Given the description of an element on the screen output the (x, y) to click on. 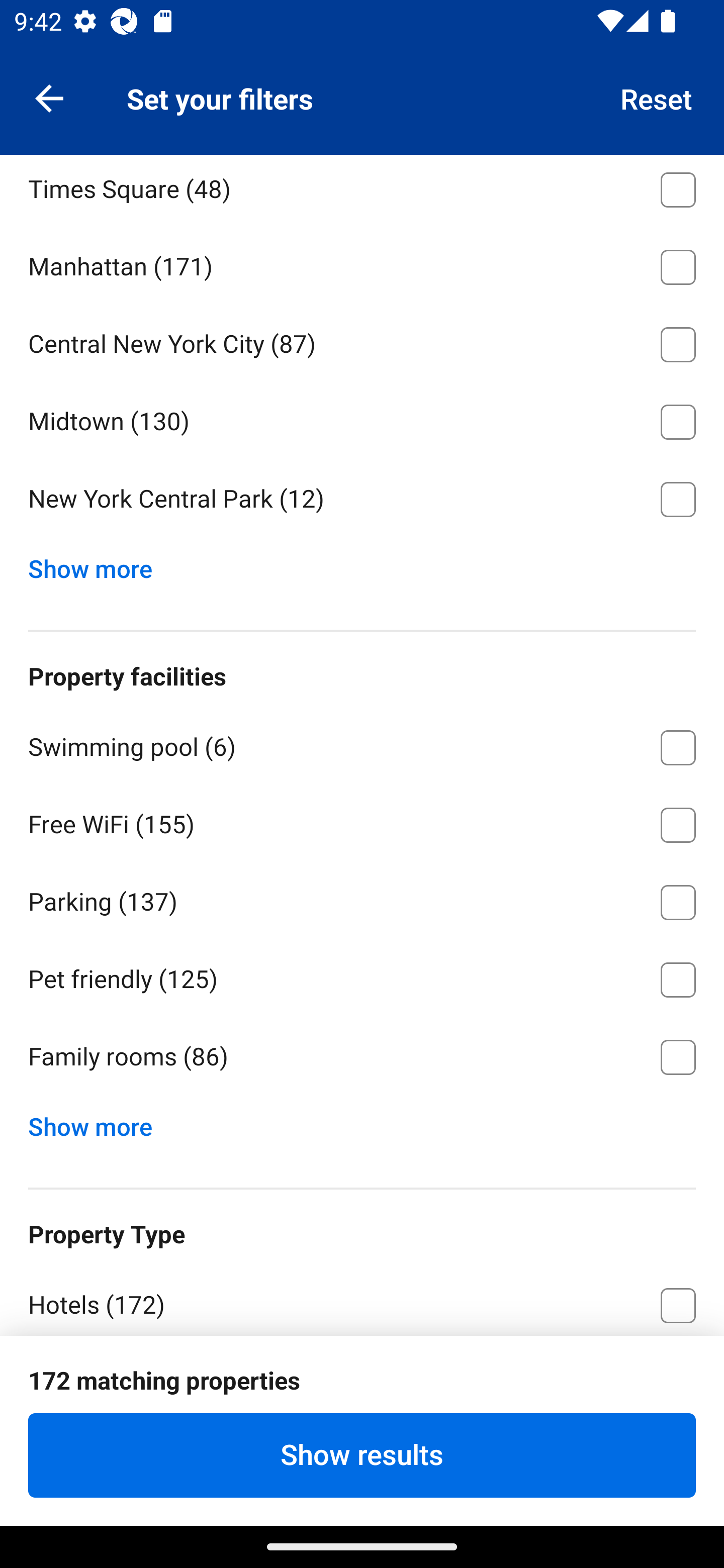
Navigate up (49, 97)
Reset (656, 97)
Times Square ⁦(48) (361, 190)
Manhattan ⁦(171) (361, 263)
Central New York City ⁦(87) (361, 340)
Midtown ⁦(130) (361, 418)
New York Central Park ⁦(12) (361, 499)
Show more (97, 565)
Swimming pool ⁦(6) (361, 743)
Free WiFi ⁦(155) (361, 821)
Parking ⁦(137) (361, 898)
Pet friendly ⁦(125) (361, 975)
Family rooms ⁦(86) (361, 1056)
Show more (97, 1121)
Hotels ⁦(172) (361, 1299)
Entire homes & apartments ⁦(72) (361, 1378)
Family-Friendly Properties ⁦(7) (361, 1458)
